Given the description of an element on the screen output the (x, y) to click on. 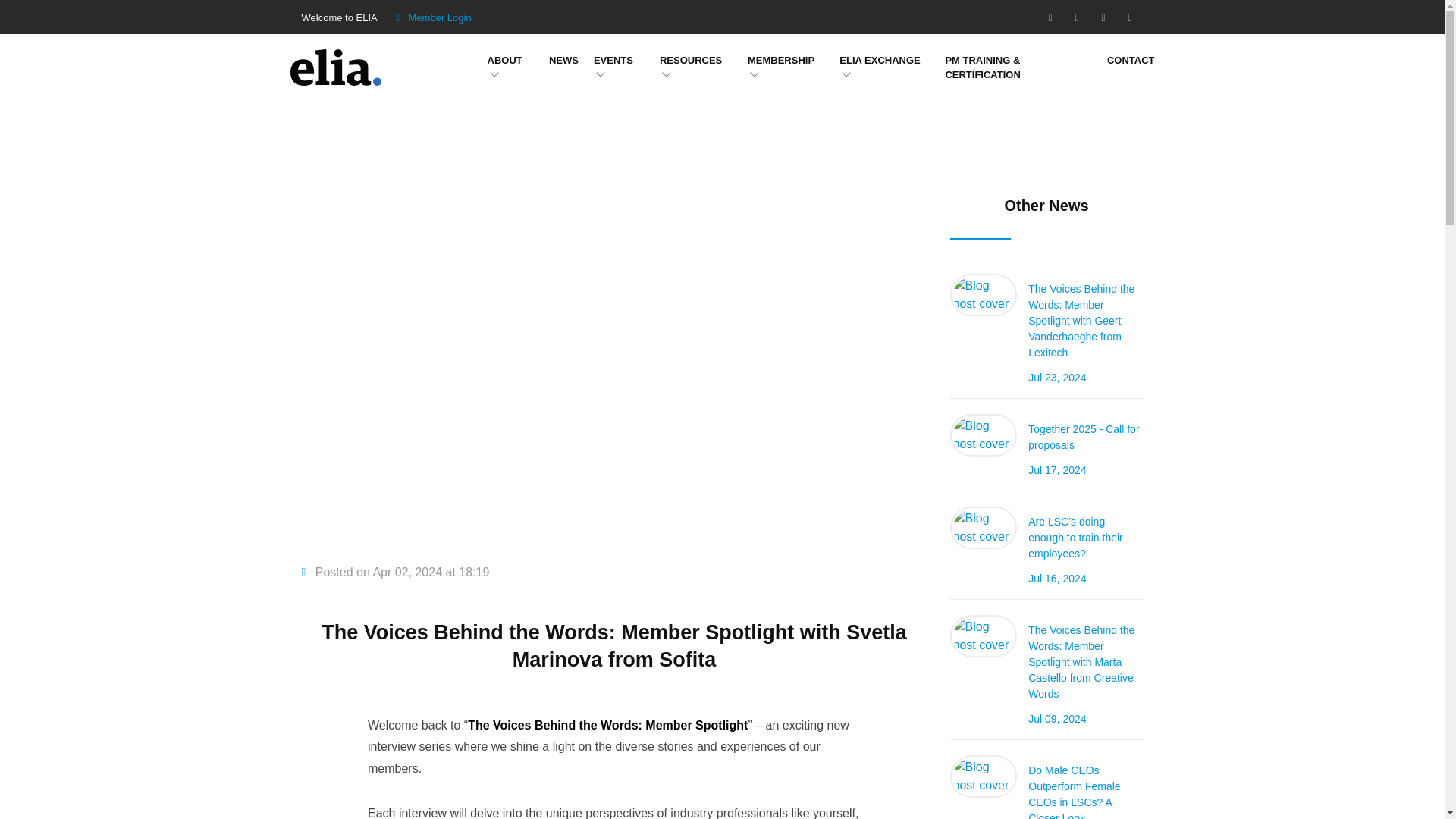
ABOUT (504, 60)
RESOURCES (690, 60)
NEWS (563, 60)
Member Login (444, 17)
ELIA EXCHANGE (880, 60)
Together 2025 - Call for proposals (1084, 437)
CONTACT (1130, 60)
EVENTS (613, 60)
MEMBERSHIP (780, 60)
